Given the description of an element on the screen output the (x, y) to click on. 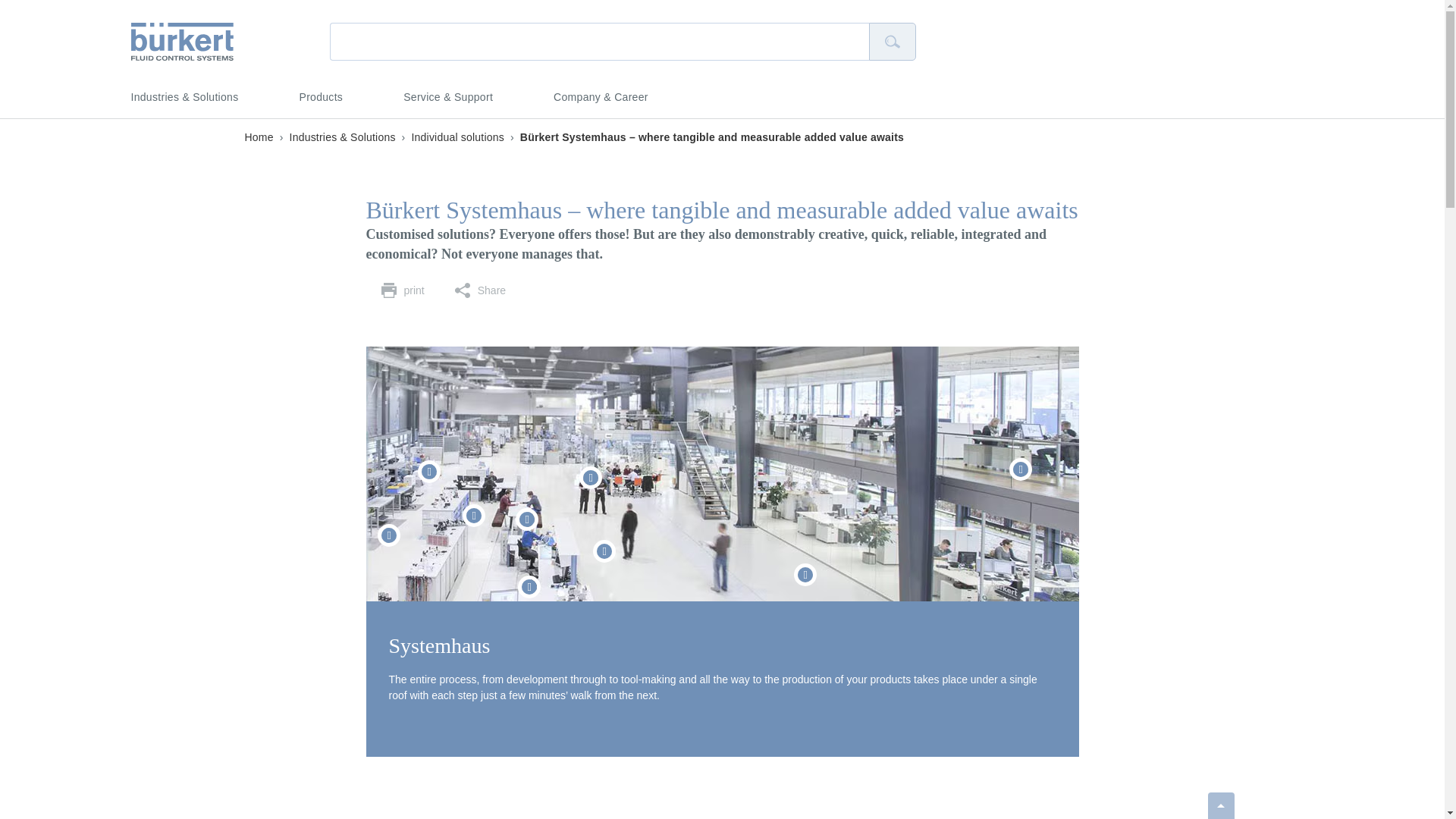
Products (321, 96)
print (402, 290)
Buerkert logo (181, 41)
Share (480, 290)
